Given the description of an element on the screen output the (x, y) to click on. 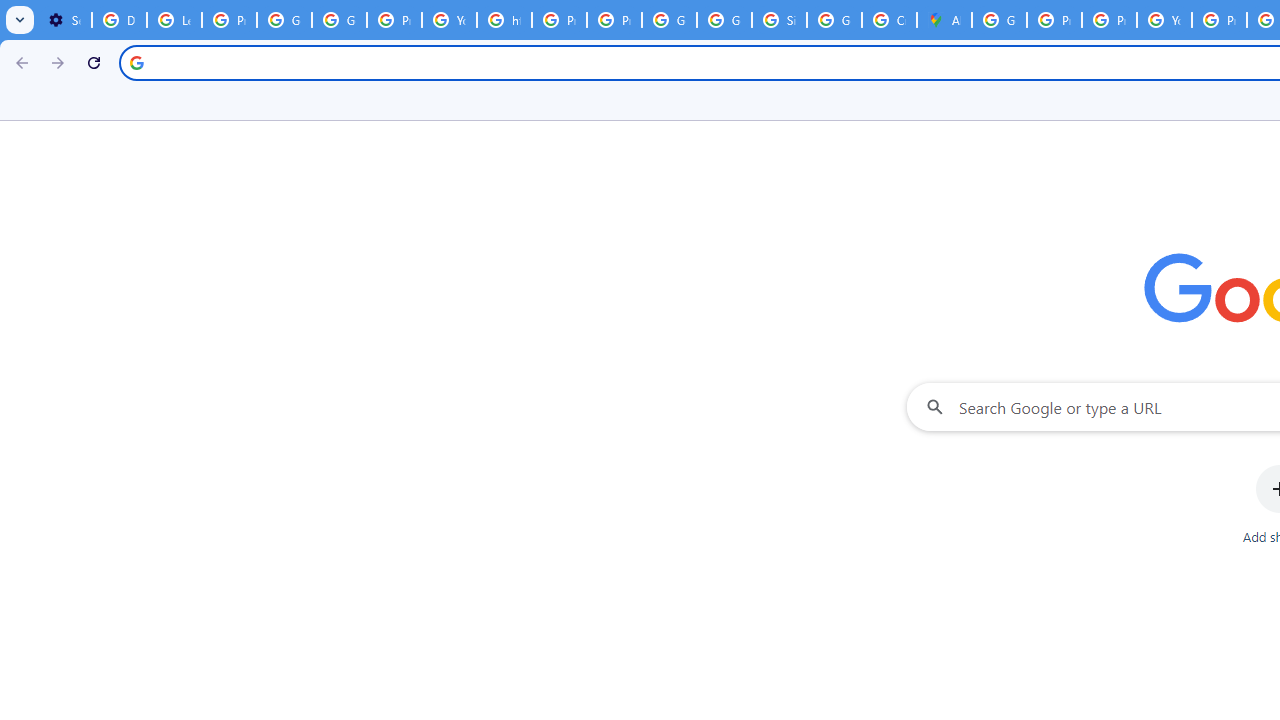
Google Account Help (284, 20)
Settings - On startup (64, 20)
Privacy Help Center - Policies Help (1108, 20)
Privacy Help Center - Policies Help (559, 20)
